Given the description of an element on the screen output the (x, y) to click on. 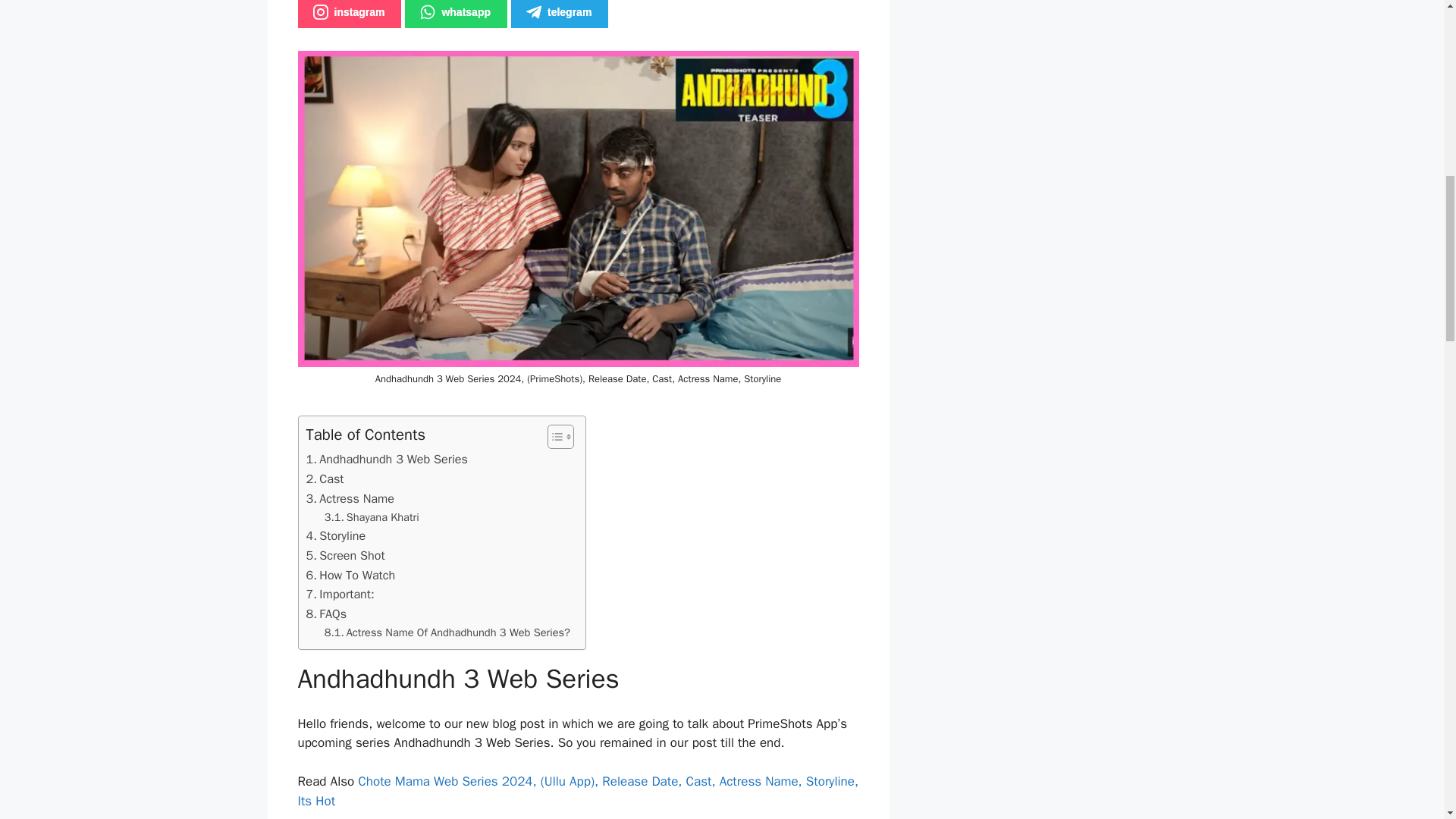
FAQs (326, 614)
Cast (324, 478)
Screen Shot (345, 555)
Important: (339, 594)
Actress Name (349, 498)
Andhadhundh 3 Web Series (386, 459)
Shayana Khatri (371, 517)
Storyline (335, 536)
How To Watch (350, 575)
telegram (559, 13)
